Given the description of an element on the screen output the (x, y) to click on. 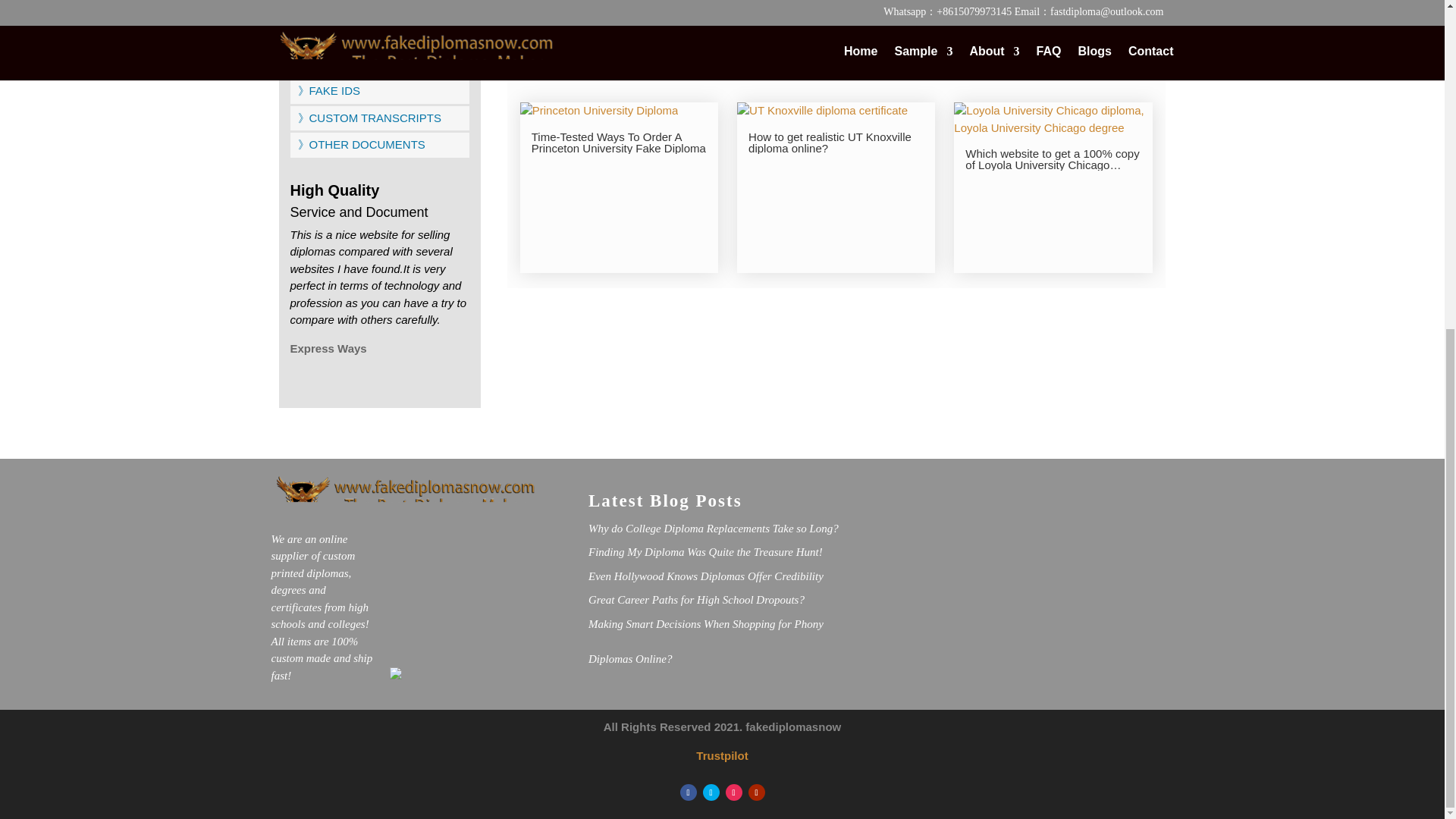
Fake Canada diplomas (369, 10)
Fake Canada diplomas (353, 36)
Fake Canada diplomas (358, 63)
FAKE IDS (328, 90)
